Given the description of an element on the screen output the (x, y) to click on. 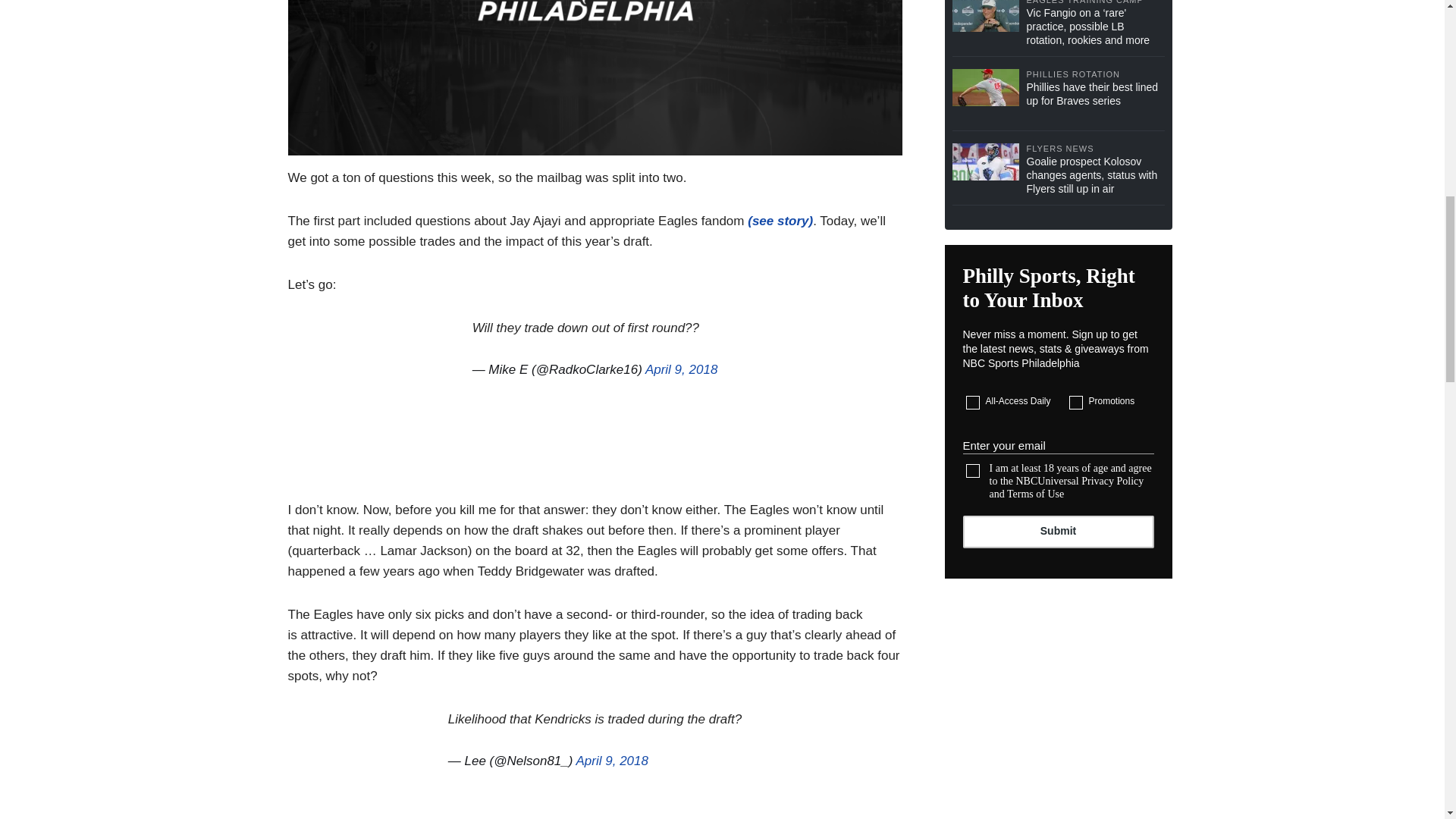
on (1075, 402)
EAGLES TRAINING CAMP (1095, 2)
PHILLIES ROTATION (1095, 74)
on (972, 470)
April 9, 2018 (611, 760)
on (972, 402)
April 9, 2018 (681, 369)
